Given the description of an element on the screen output the (x, y) to click on. 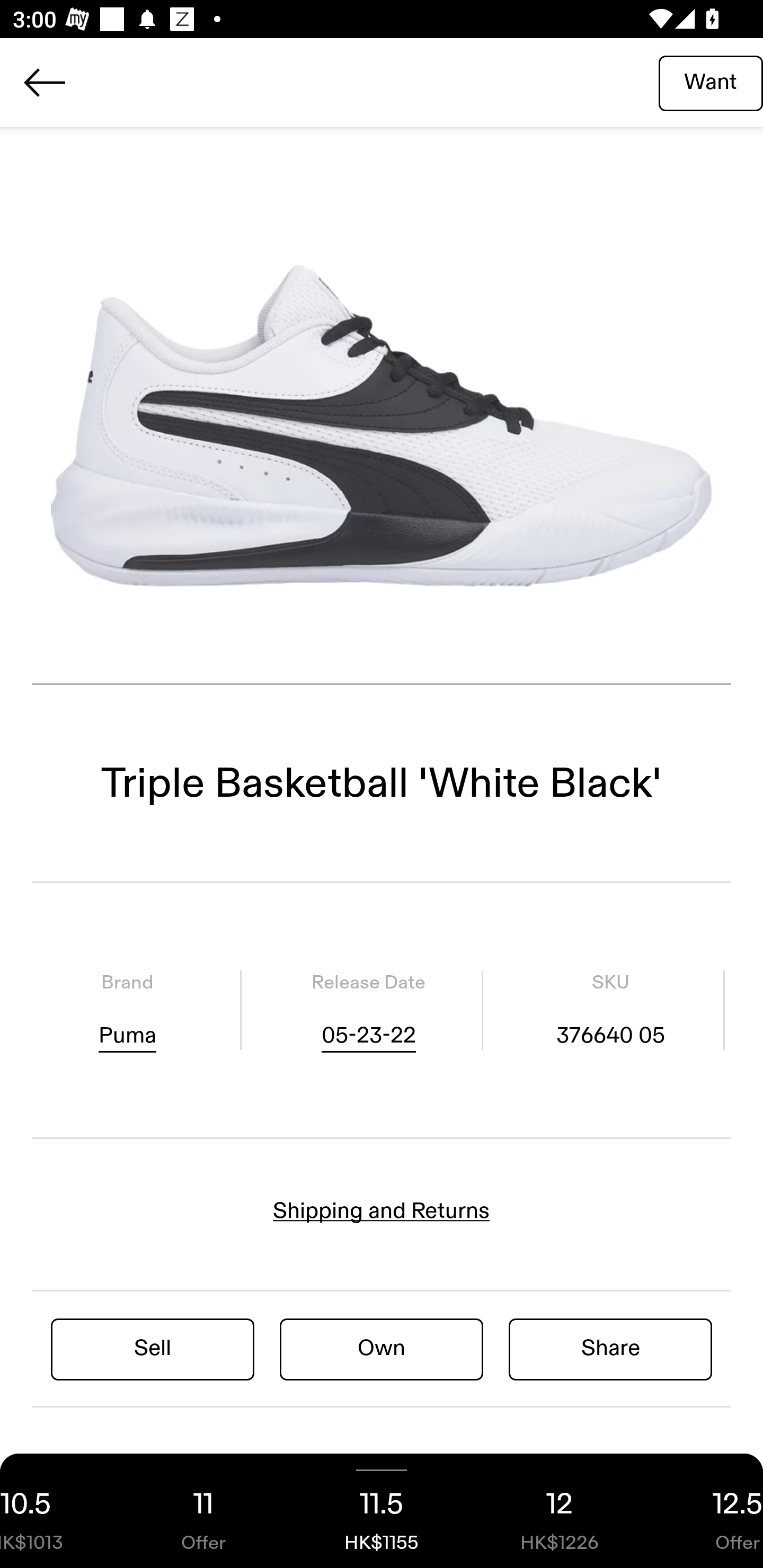
Want (710, 82)
Brand Puma (126, 1009)
Release Date 05-23-22 (368, 1009)
SKU 376640 05 (609, 1009)
Shipping and Returns (381, 1211)
Sell (152, 1348)
Own (381, 1348)
Share (609, 1348)
10.5 HK$1013 (57, 1510)
11 Offer (203, 1510)
11.5 HK$1155 (381, 1510)
12 HK$1226 (559, 1510)
12.5 Offer (705, 1510)
